Given the description of an element on the screen output the (x, y) to click on. 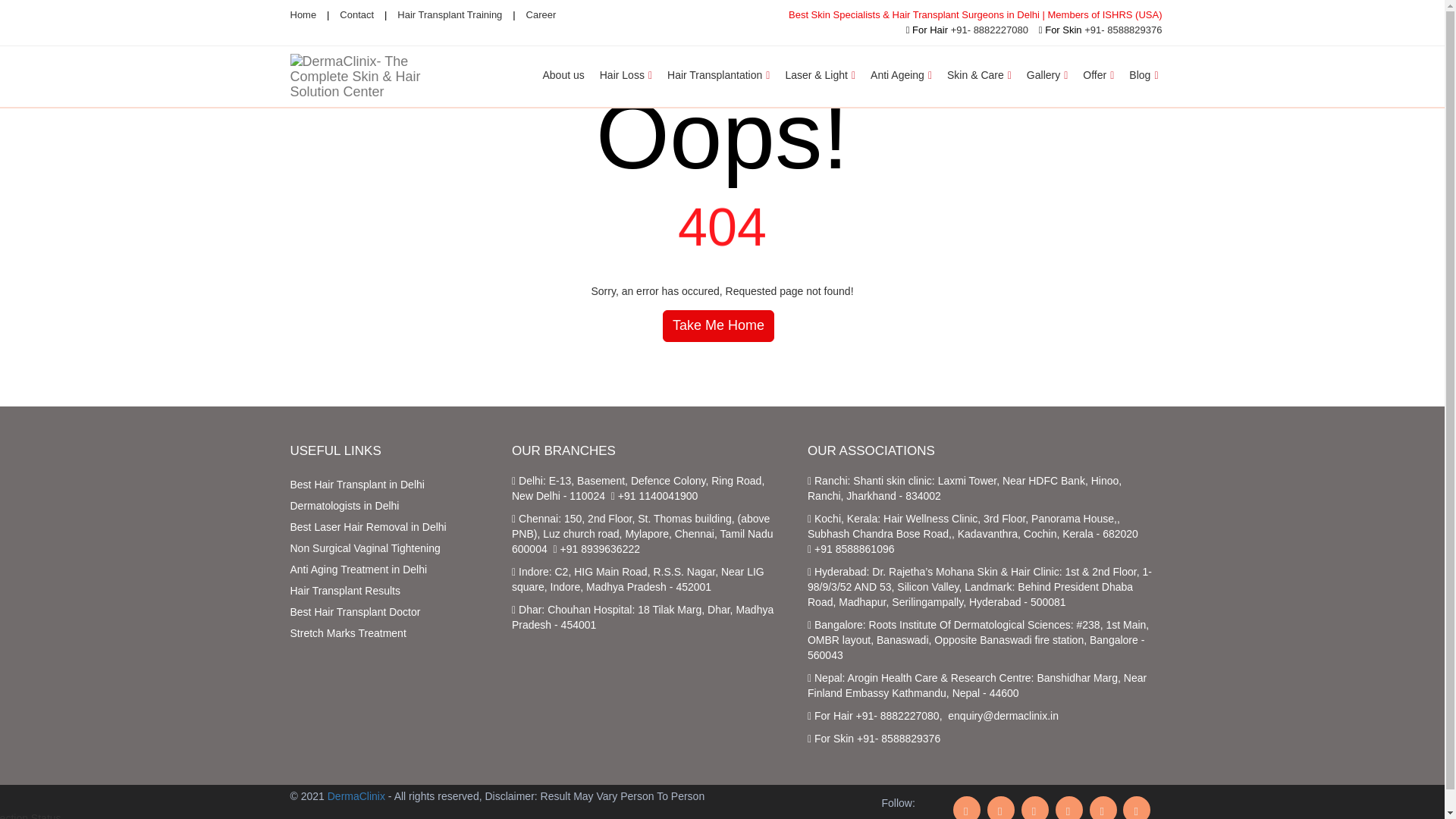
Hair Transplant Training (449, 14)
Contact (356, 14)
Home (302, 14)
Career (540, 14)
